Given the description of an element on the screen output the (x, y) to click on. 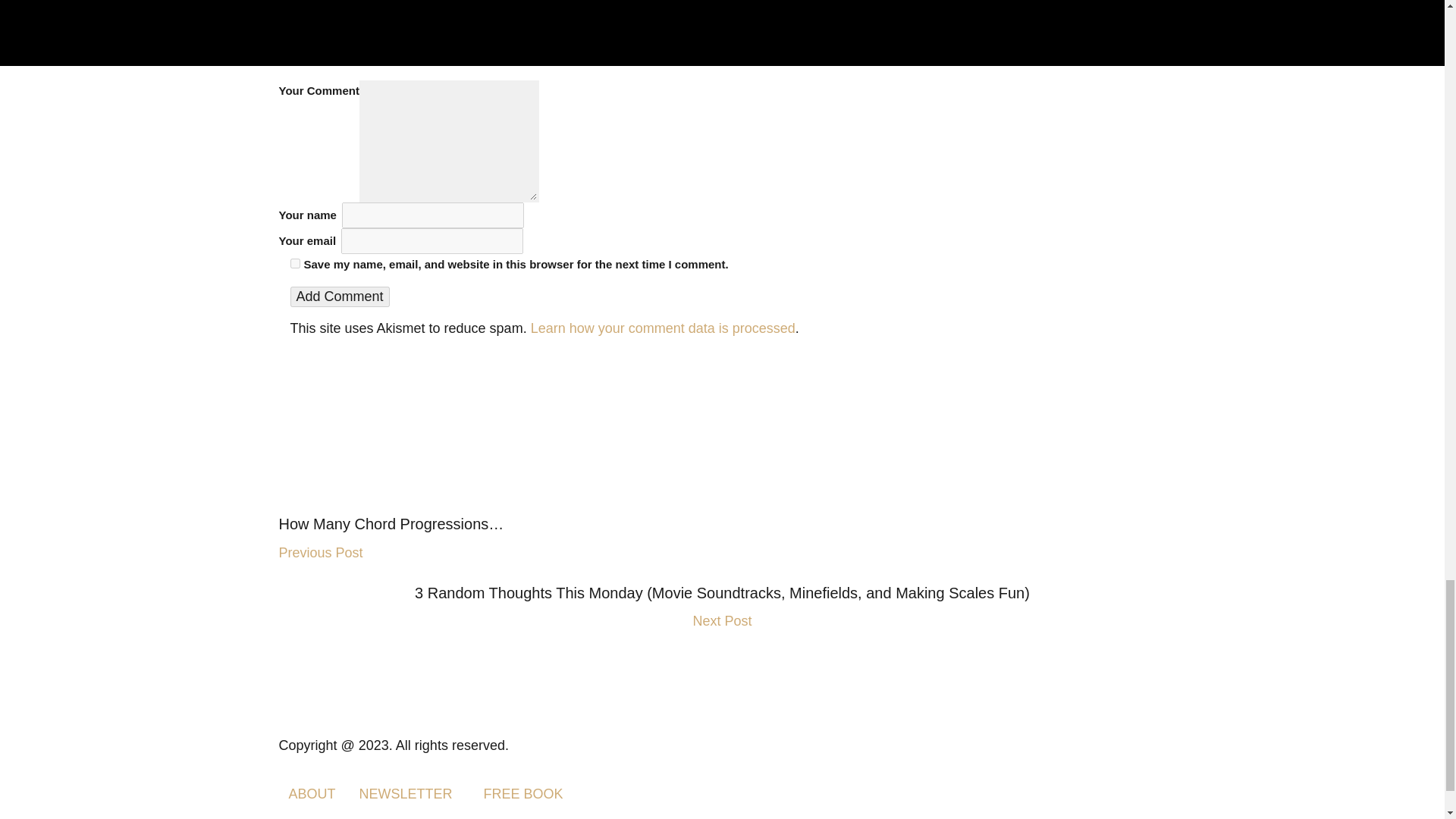
Add Comment (338, 296)
HERE (805, 4)
yes (294, 263)
Add Comment (338, 296)
